Given the description of an element on the screen output the (x, y) to click on. 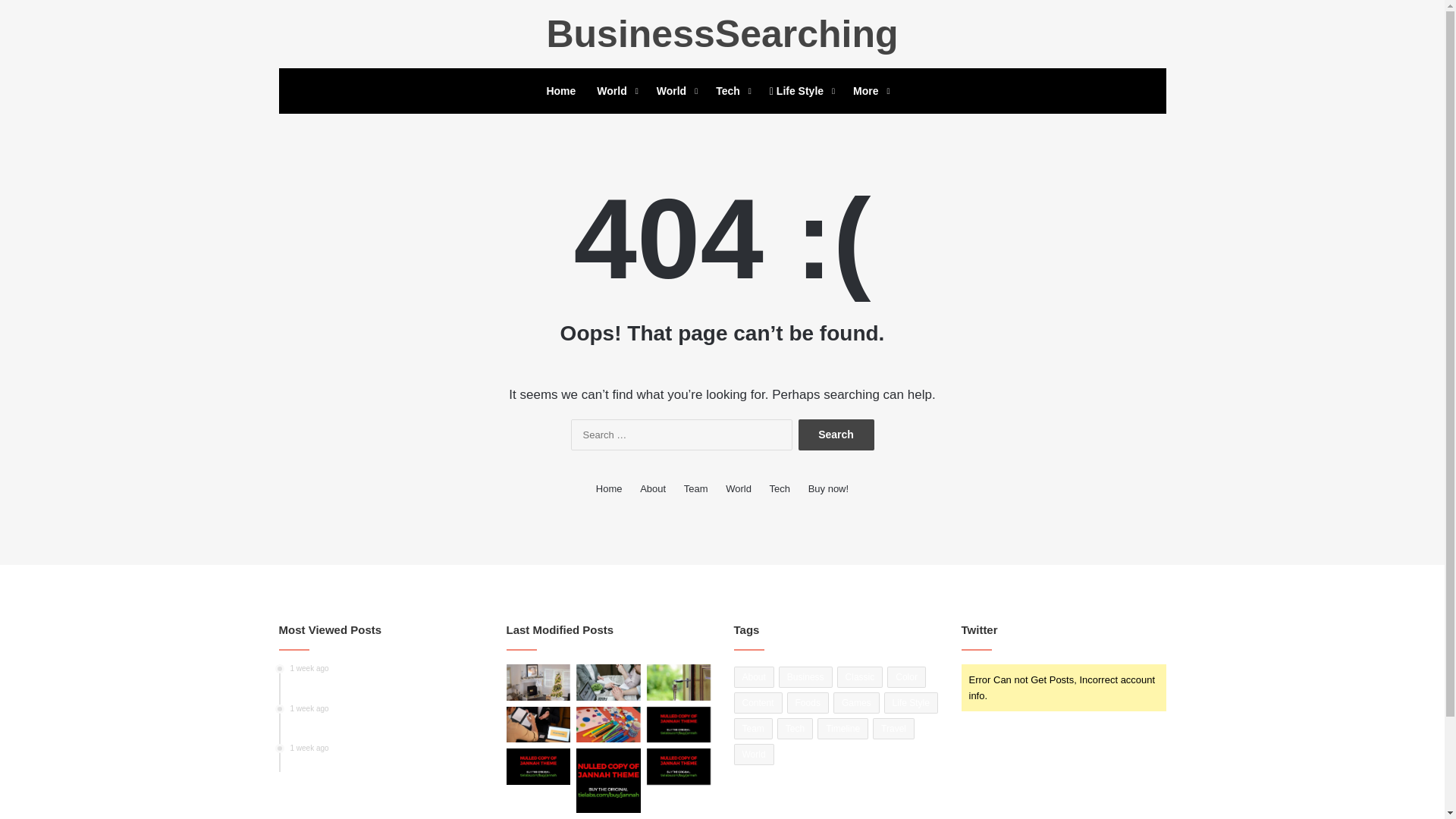
Search (835, 434)
World (675, 90)
World (615, 90)
BusinessSearching (722, 34)
Search (835, 434)
Home (560, 90)
More (869, 90)
BusinessSearching (722, 34)
Tech (731, 90)
Life Style (800, 90)
